Given the description of an element on the screen output the (x, y) to click on. 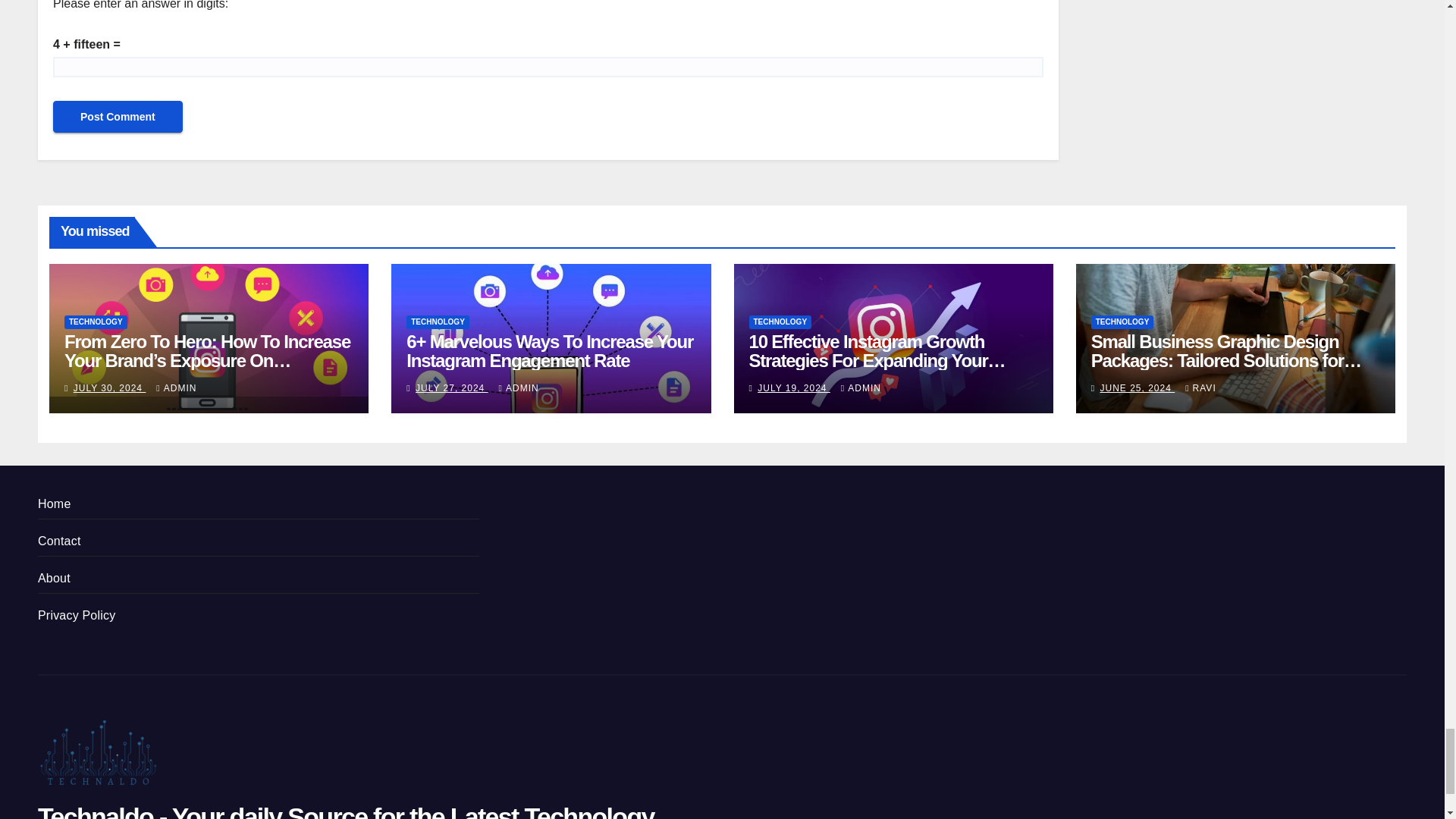
Post Comment (117, 116)
